Given the description of an element on the screen output the (x, y) to click on. 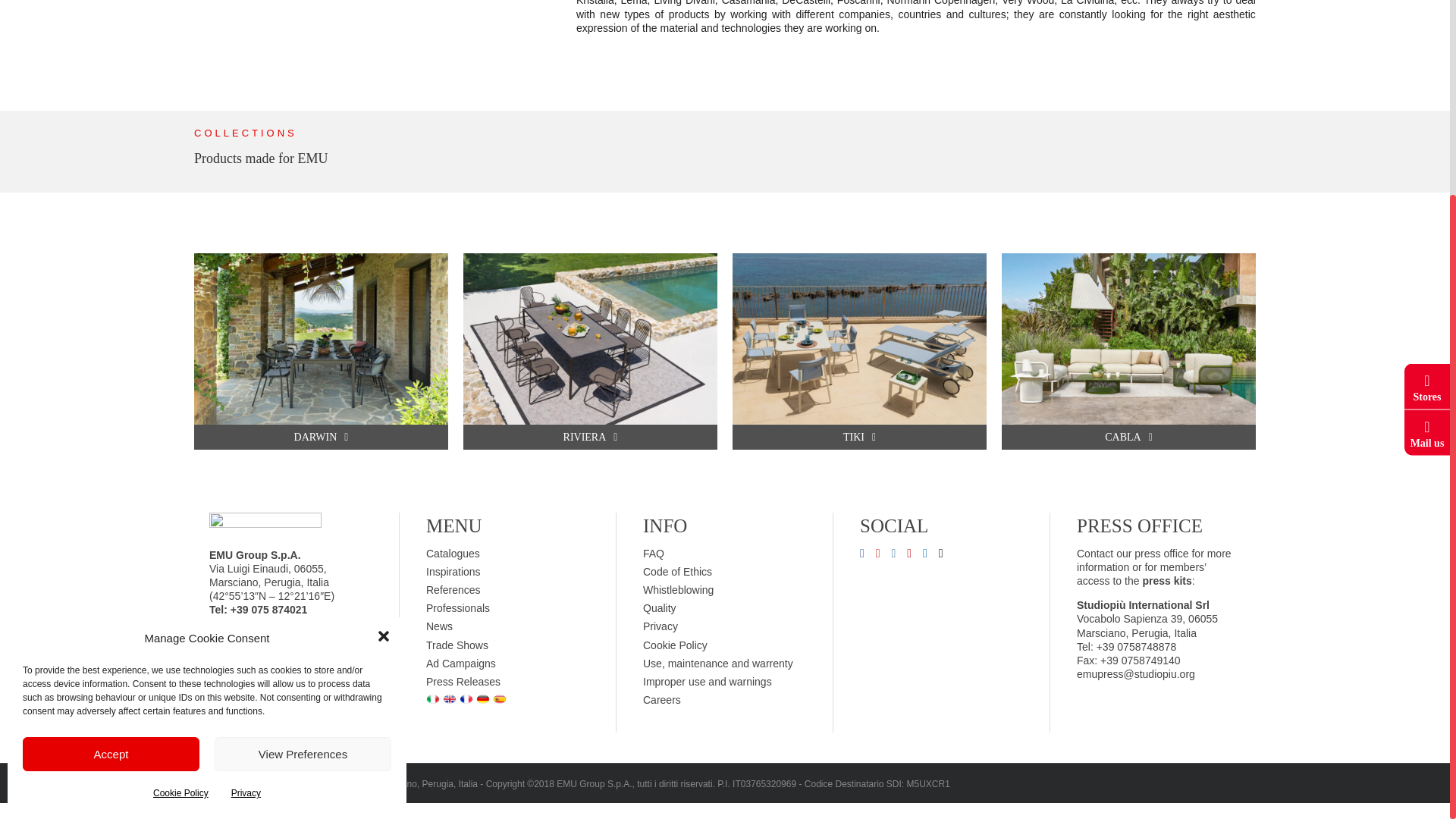
View Preferences (302, 497)
Privacy (245, 536)
Cookie Policy (180, 536)
Accept (111, 497)
